Given the description of an element on the screen output the (x, y) to click on. 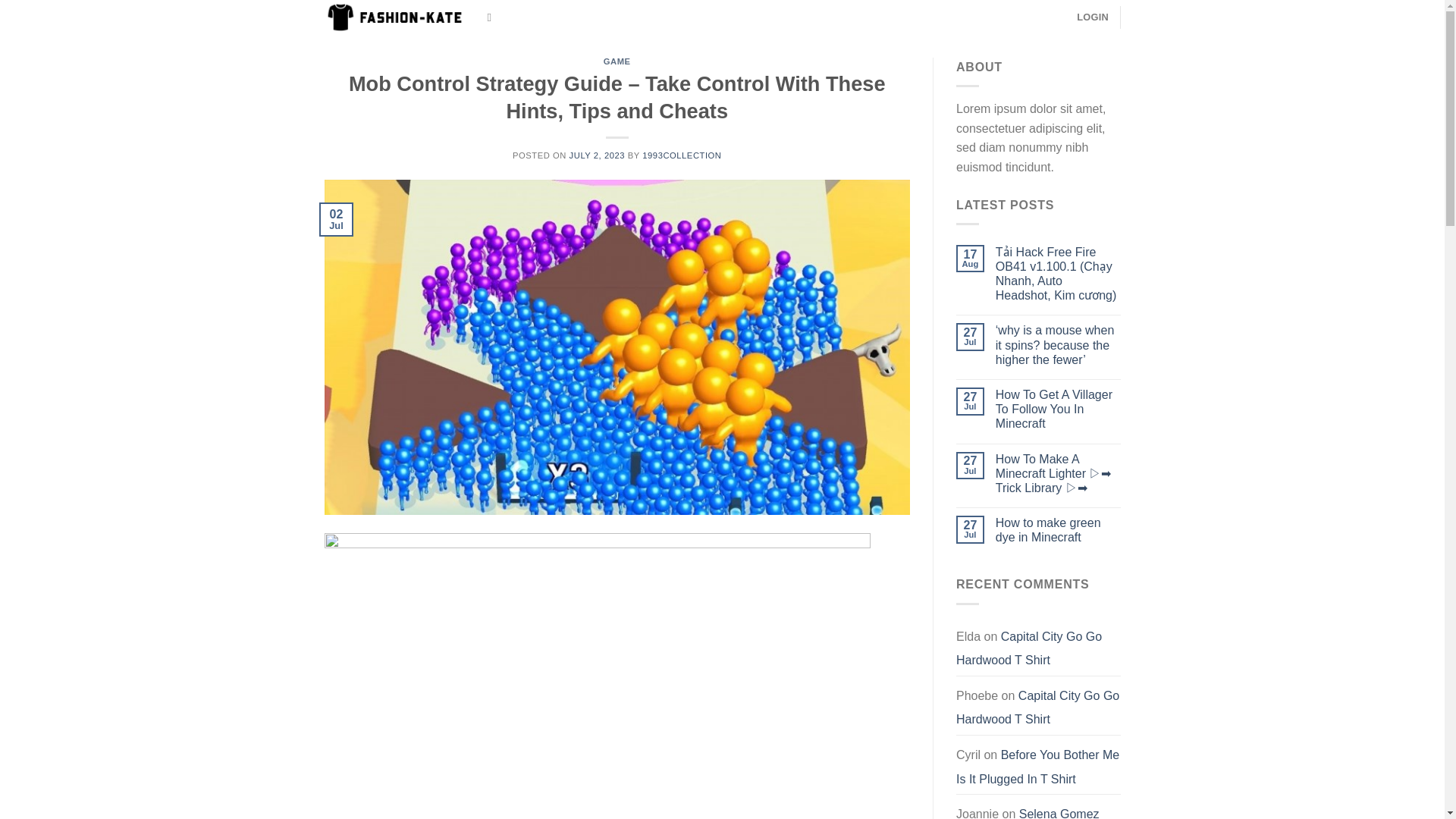
How To Get A Villager To Follow You In Minecraft (1058, 409)
JULY 2, 2023 (596, 154)
Capital City Go Go Hardwood T Shirt (1037, 707)
GAME (617, 61)
Before You Bother Me Is It Plugged In T Shirt (1037, 766)
Selena Gomez Hotter Than I Should Be T-shirt (1028, 811)
LOGIN (1092, 17)
How To Get A Villager To Follow You In Minecraft (1058, 409)
1993COLLECTION (681, 154)
Capital City Go Go Hardwood T Shirt (1029, 648)
How to make green dye in Minecraft (1058, 529)
